Given the description of an element on the screen output the (x, y) to click on. 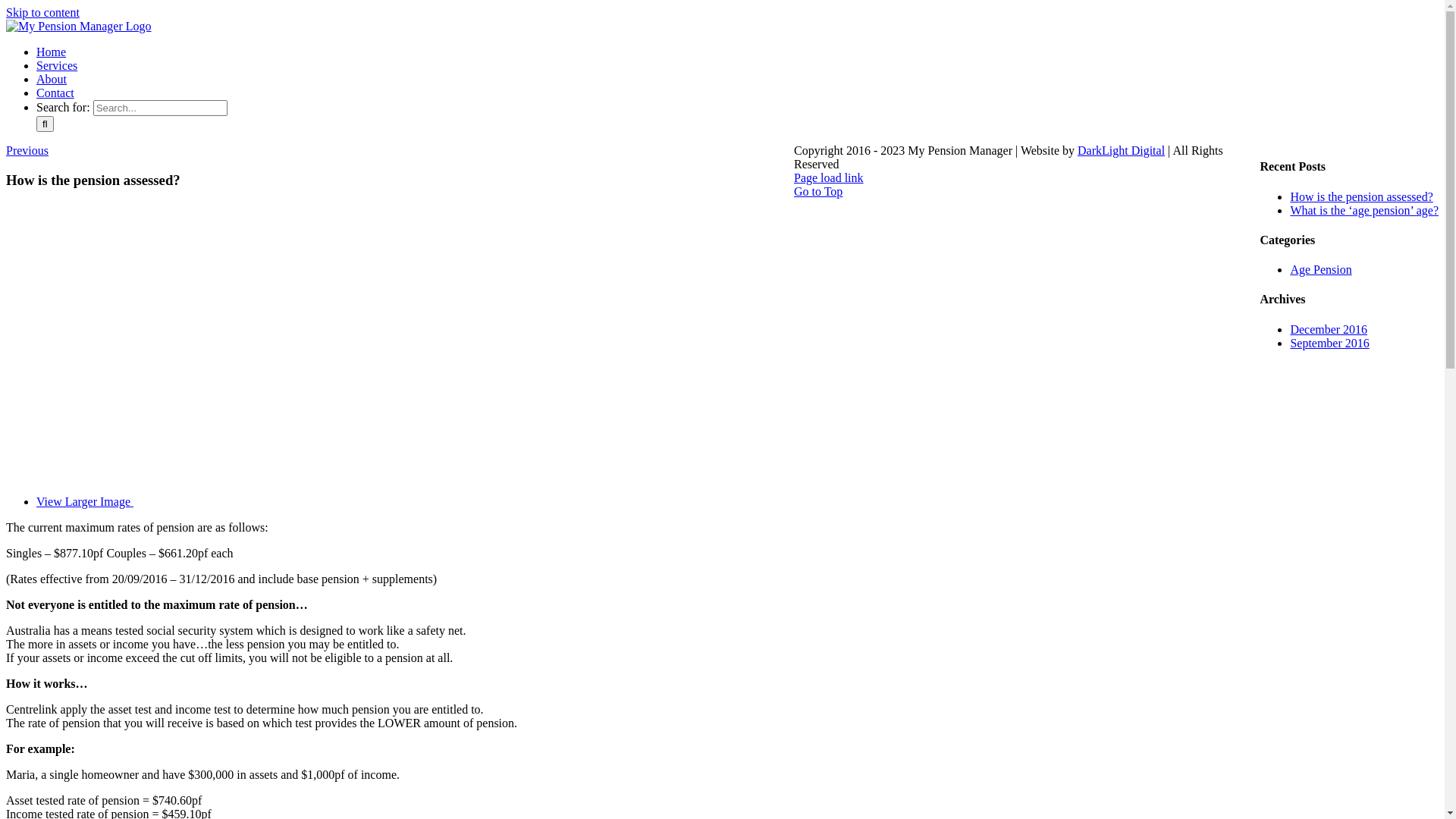
View Larger Image Element type: text (312, 501)
How is the pension assessed? Element type: text (1360, 196)
Skip to content Element type: text (42, 12)
Go to Top Element type: text (817, 191)
Home Element type: text (50, 51)
DarkLight Digital Element type: text (1120, 150)
September 2016 Element type: text (1328, 342)
About Element type: text (51, 78)
Age Pension Element type: text (1320, 269)
Contact Element type: text (55, 92)
Previous Element type: text (27, 150)
Services Element type: text (56, 65)
December 2016 Element type: text (1328, 329)
Page load link Element type: text (828, 177)
